Given the description of an element on the screen output the (x, y) to click on. 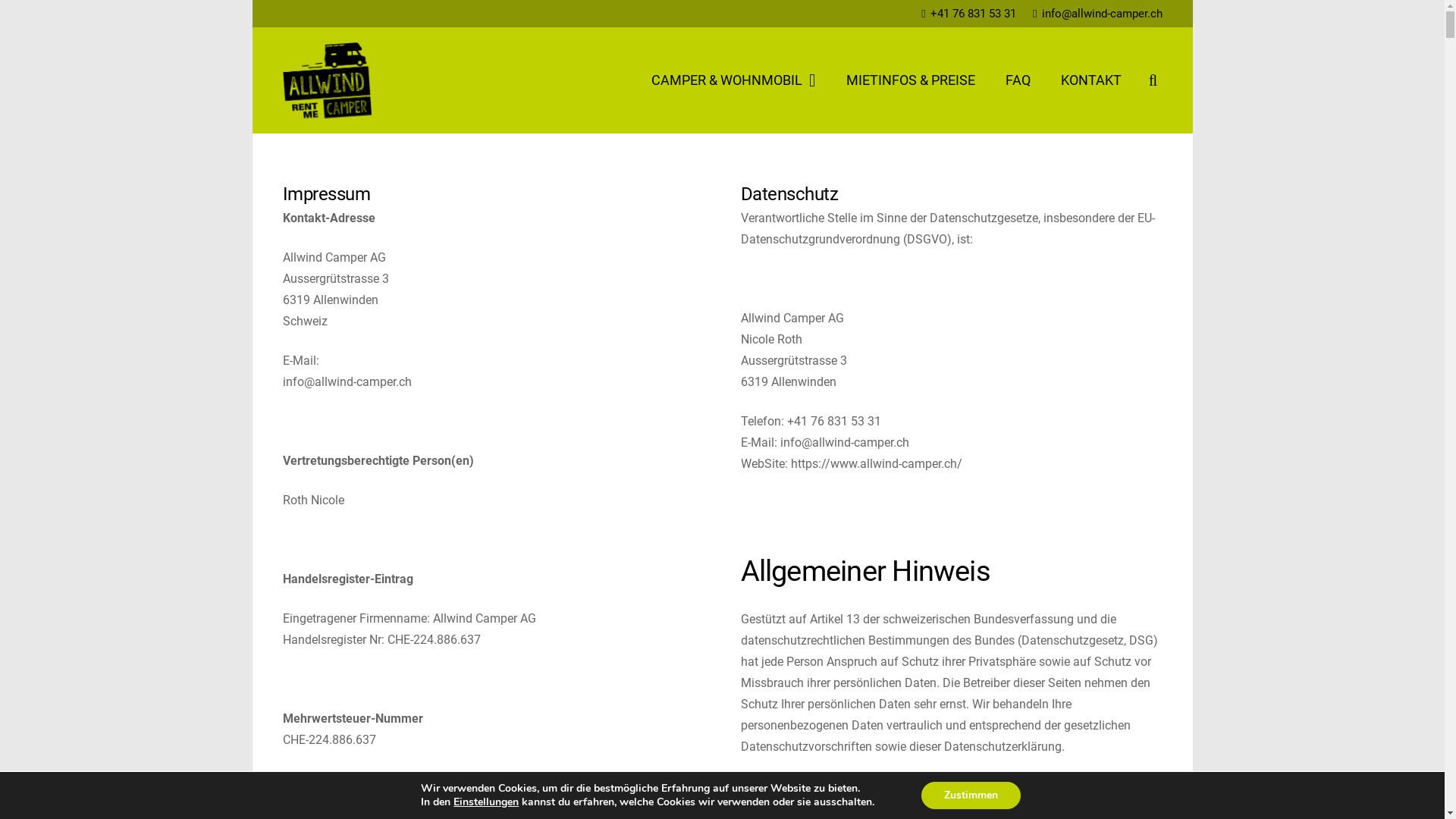
FAQ Element type: text (1017, 80)
MIETINFOS & PREISE Element type: text (910, 80)
Zustimmen Element type: text (970, 795)
+41 76 831 53 31 Element type: text (968, 13)
CAMPER & WOHNMOBIL Element type: text (733, 80)
KONTAKT Element type: text (1090, 80)
Einstellungen Element type: text (485, 802)
info@allwind-camper.ch Element type: text (1096, 13)
